Given the description of an element on the screen output the (x, y) to click on. 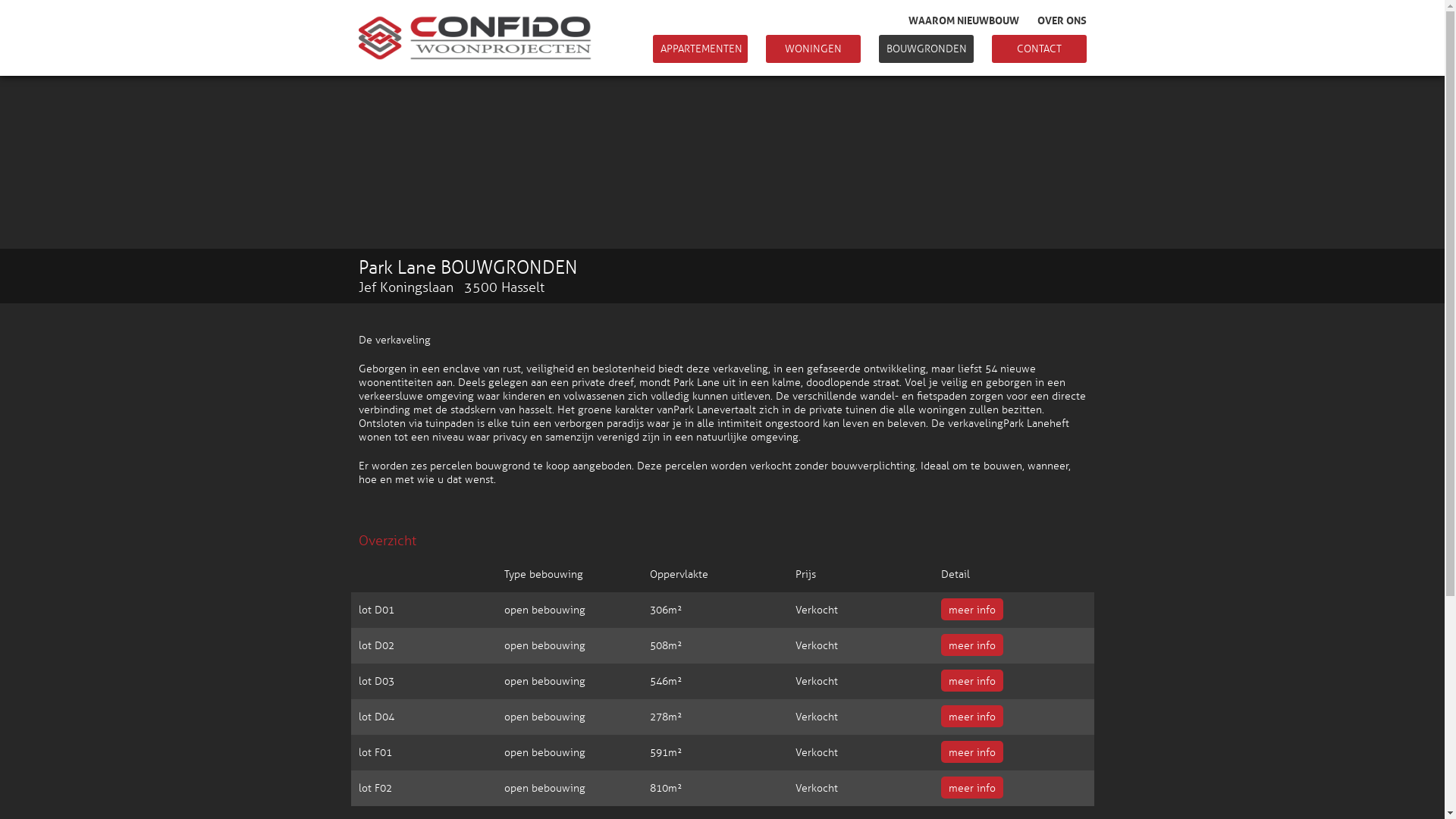
Verkocht Element type: text (815, 645)
WAAROM NIEUWBOUW Element type: text (963, 18)
open bebouwing Element type: text (543, 716)
Verkocht Element type: text (815, 752)
Verkocht Element type: text (815, 609)
Home Element type: hover (598, 39)
meer info Element type: text (971, 716)
Verkocht Element type: text (815, 716)
meer info Element type: text (971, 751)
WONINGEN Element type: text (812, 48)
open bebouwing Element type: text (543, 752)
meer info Element type: text (971, 680)
lot D04 Element type: text (375, 716)
Overslaan en naar de inhoud gaan Element type: text (81, 0)
lot D01 Element type: text (375, 609)
meer info Element type: text (971, 644)
open bebouwing Element type: text (543, 787)
open bebouwing Element type: text (543, 645)
APPARTEMENTEN Element type: text (699, 48)
lot D03 Element type: text (375, 680)
lot D02 Element type: text (375, 645)
meer info Element type: text (971, 609)
meer info Element type: text (971, 787)
CONTACT Element type: text (1038, 48)
lot F02 Element type: text (374, 787)
BOUWGRONDEN Element type: text (925, 48)
OVER ONS Element type: text (1061, 18)
open bebouwing Element type: text (543, 609)
Verkocht Element type: text (815, 787)
Verkocht Element type: text (815, 680)
open bebouwing Element type: text (543, 680)
lot F01 Element type: text (374, 752)
